Given the description of an element on the screen output the (x, y) to click on. 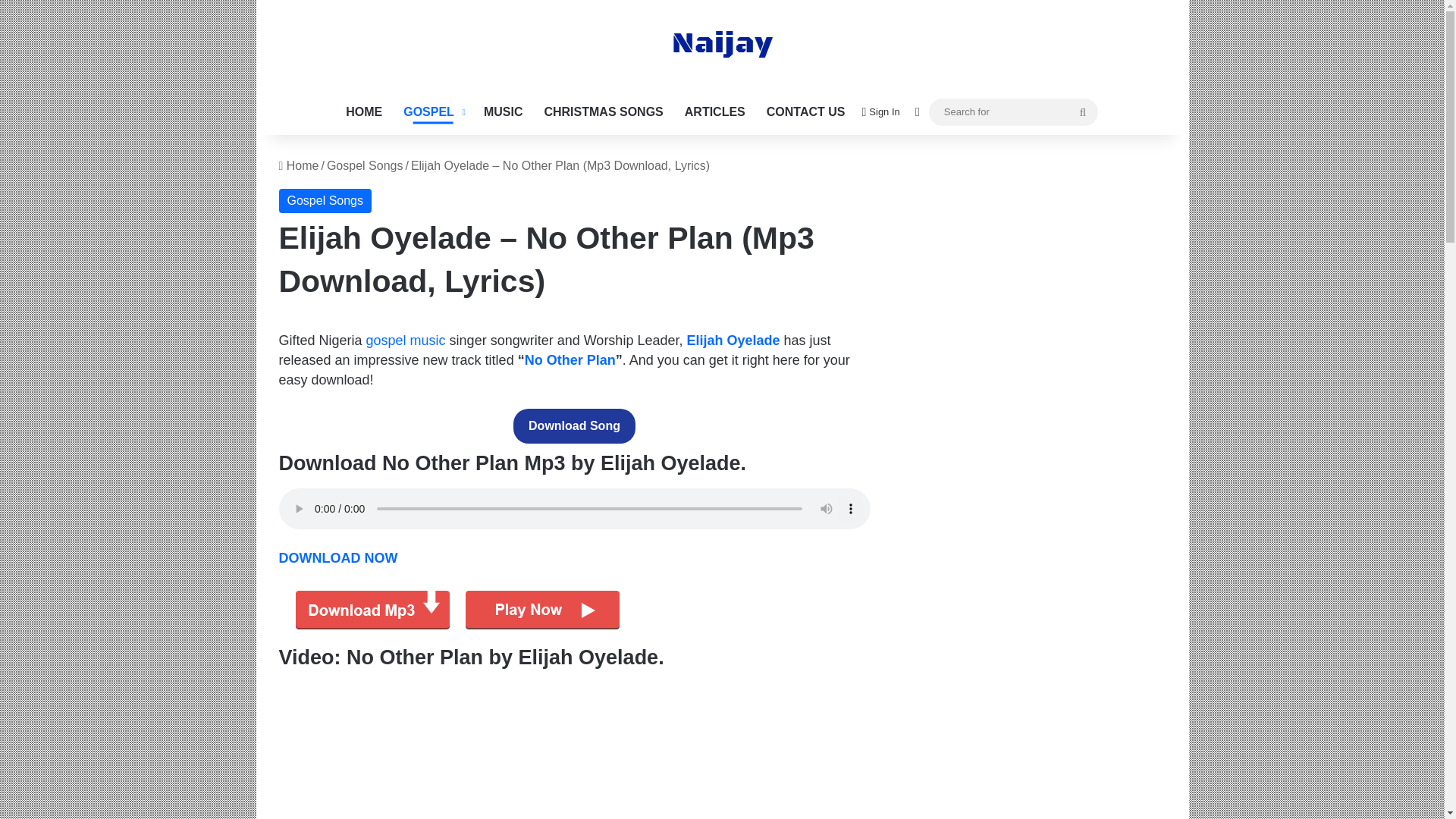
Contact Us (805, 112)
HOME (363, 112)
gospel music (405, 340)
MUSIC (503, 112)
Latest Gospel Songs Mp3 Download (433, 112)
Search for (1012, 111)
Download Song (573, 425)
Search for (1082, 112)
Gospel Songs (364, 164)
CONTACT US (805, 112)
